Given the description of an element on the screen output the (x, y) to click on. 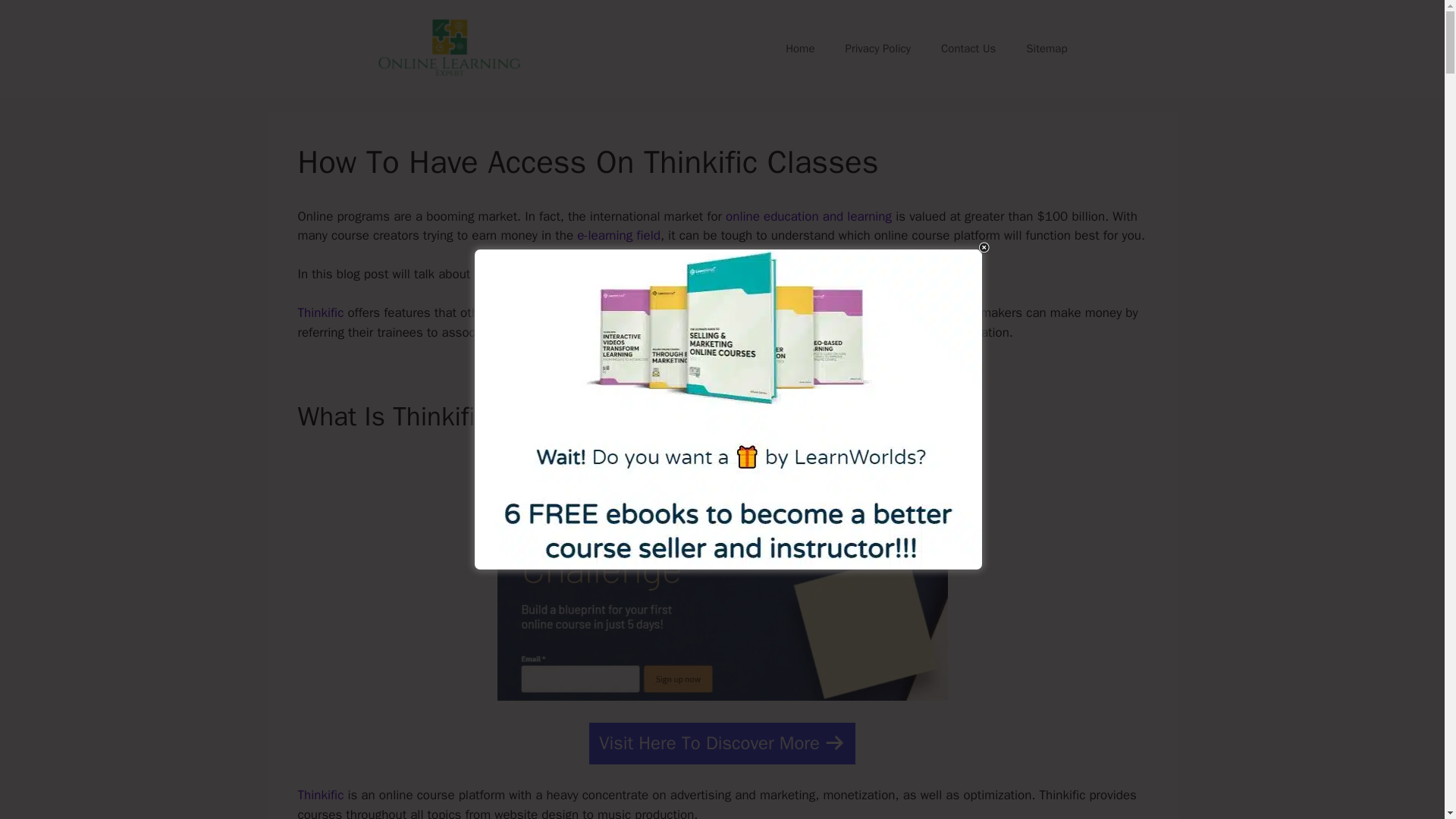
Thinkific (320, 312)
Visit Here To Discover More (722, 743)
Privacy Policy (877, 48)
Thinkific (320, 795)
Sitemap (1045, 48)
Contact Us (968, 48)
e-learning field (618, 235)
online education and learning (808, 216)
Home (799, 48)
